Given the description of an element on the screen output the (x, y) to click on. 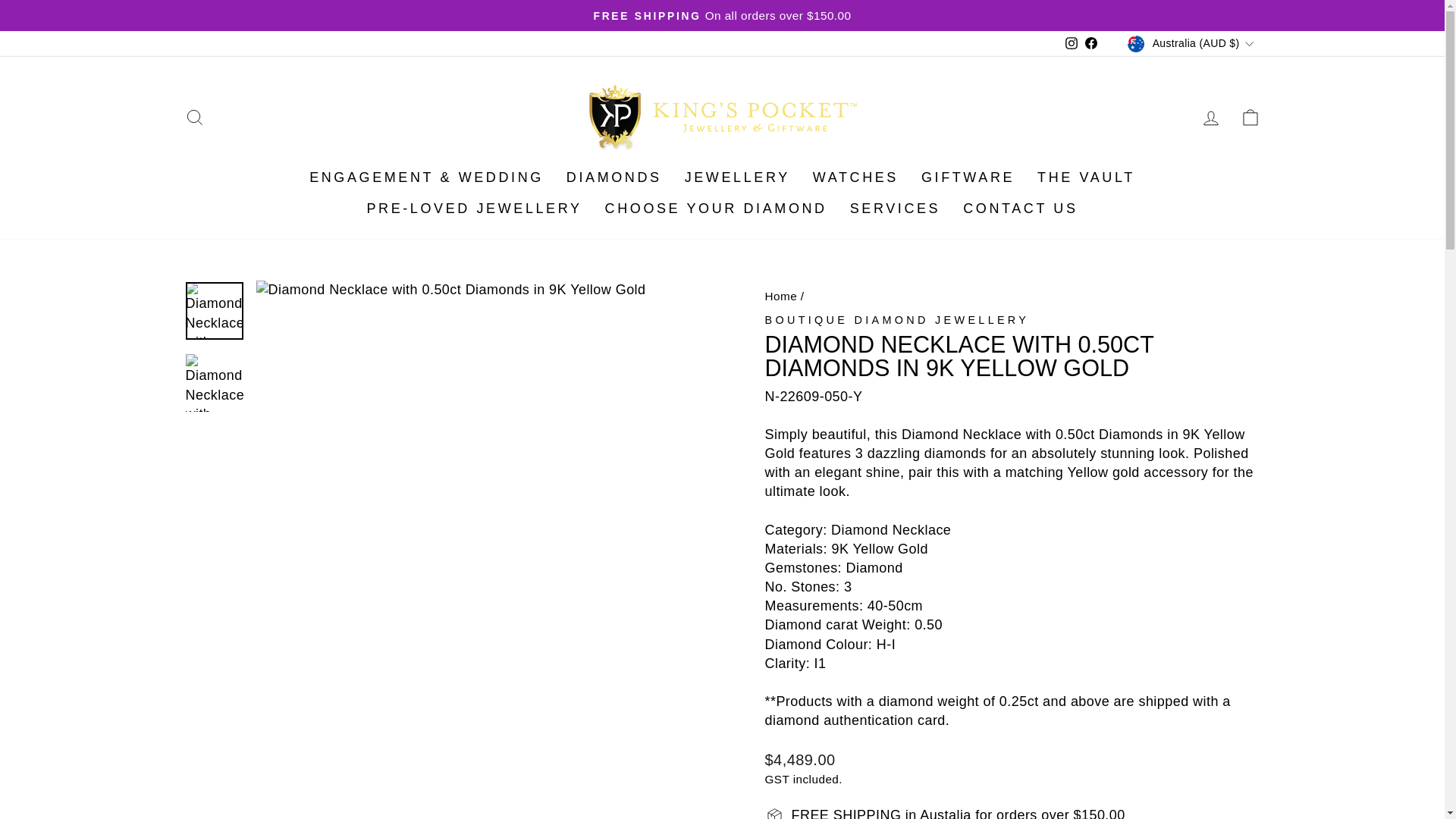
Back to the frontpage (780, 295)
Boutique Diamond Jewellery (896, 319)
